Given the description of an element on the screen output the (x, y) to click on. 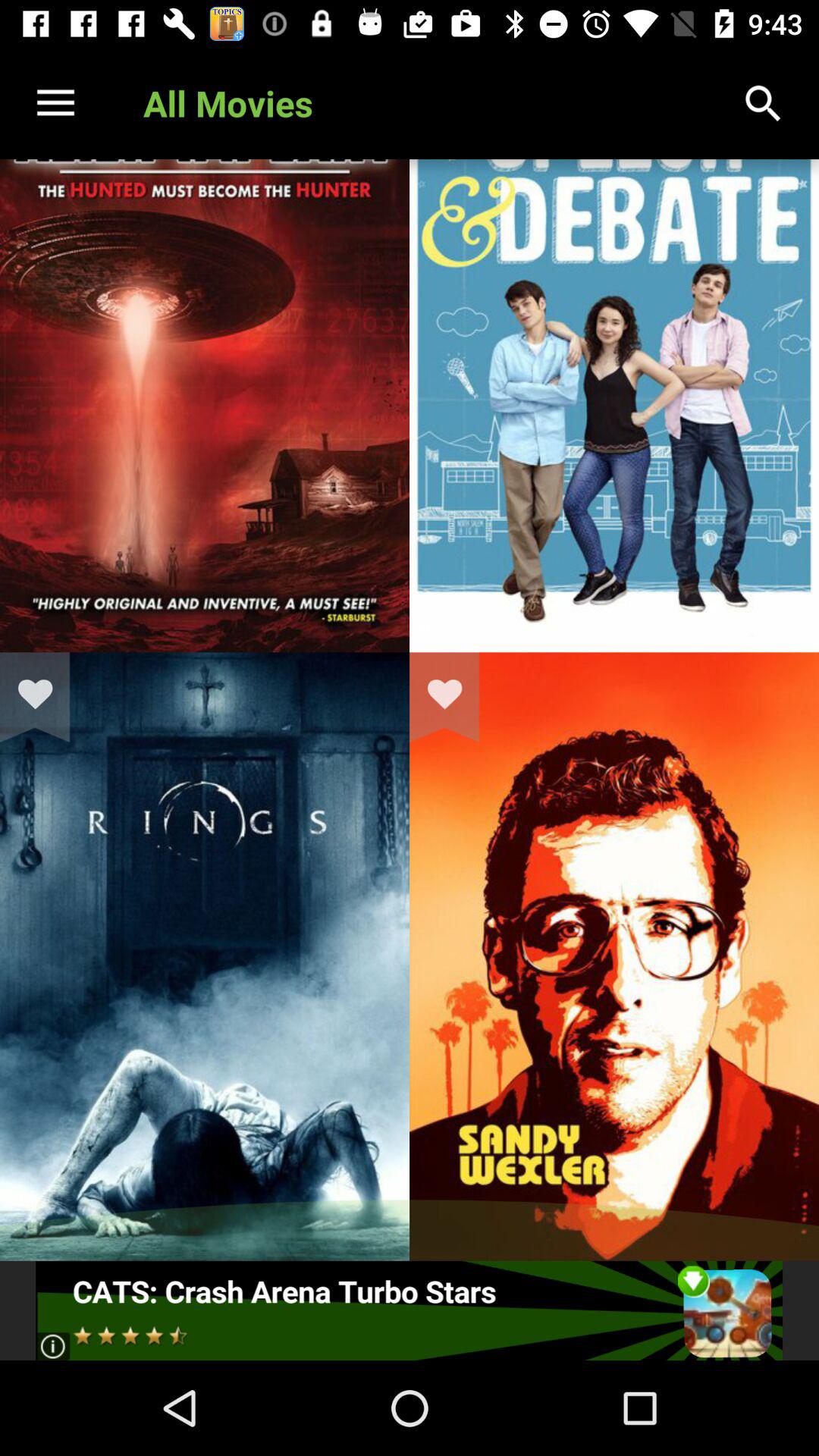
favorite (454, 697)
